Given the description of an element on the screen output the (x, y) to click on. 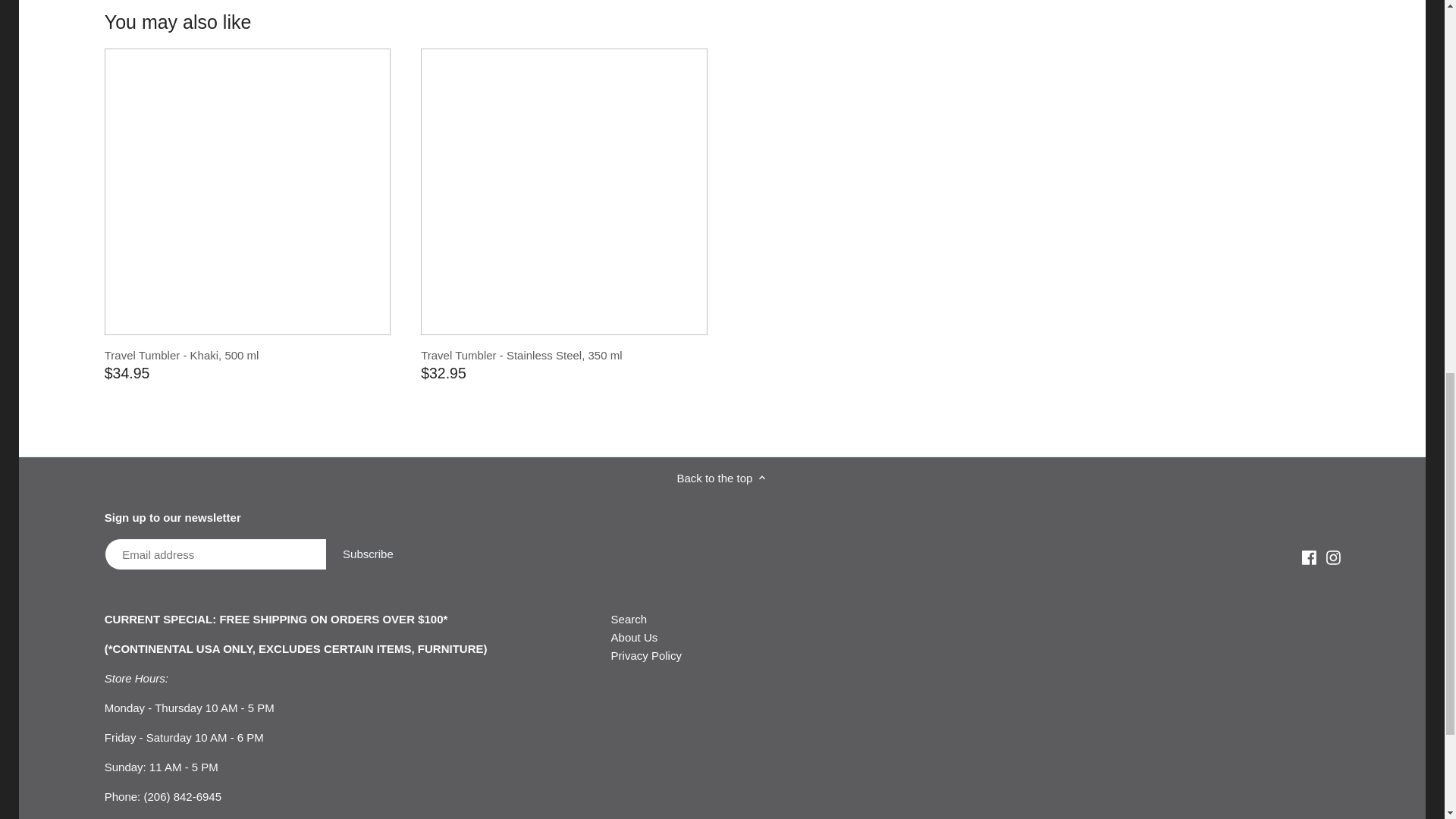
Instagram (1331, 557)
Instagram (1331, 555)
Facebook (1308, 555)
Subscribe (368, 554)
Facebook (1308, 557)
